Given the description of an element on the screen output the (x, y) to click on. 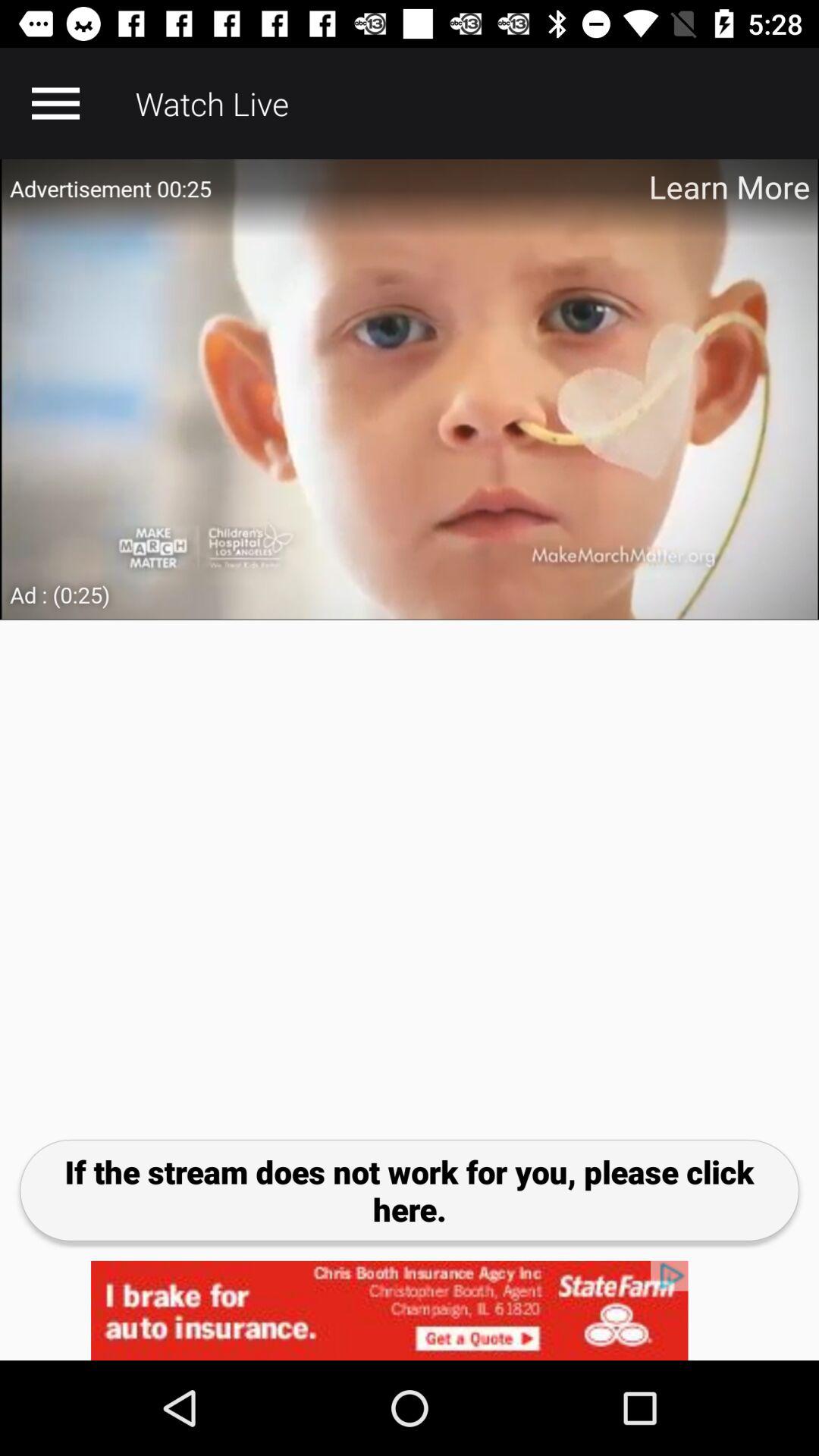
upper video advertisement bar (409, 389)
